Given the description of an element on the screen output the (x, y) to click on. 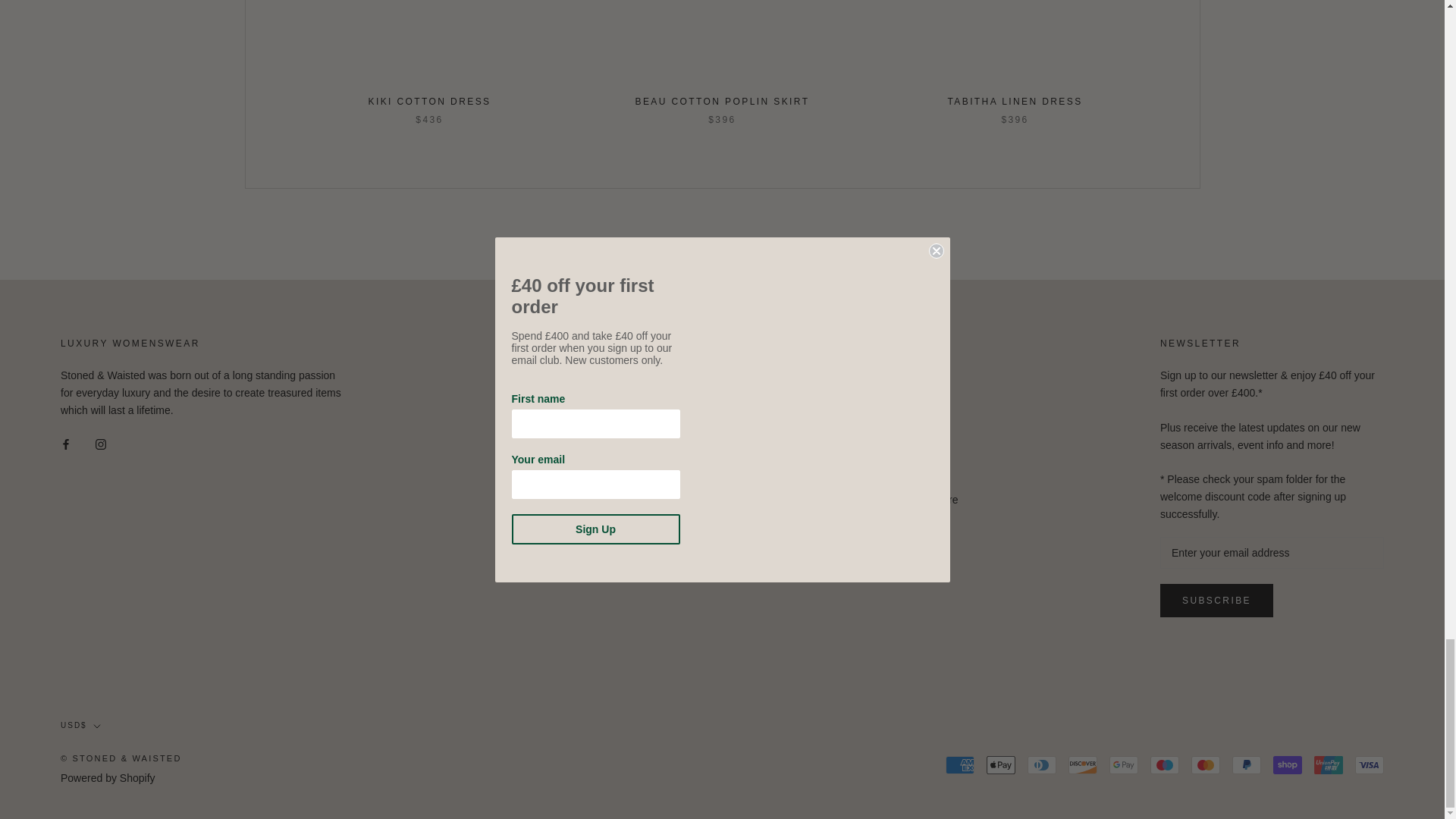
Discover (1082, 764)
Diners Club (1042, 764)
Maestro (1164, 764)
American Express (959, 764)
Apple Pay (1000, 764)
PayPal (1245, 764)
Mastercard (1205, 764)
Google Pay (1123, 764)
